Given the description of an element on the screen output the (x, y) to click on. 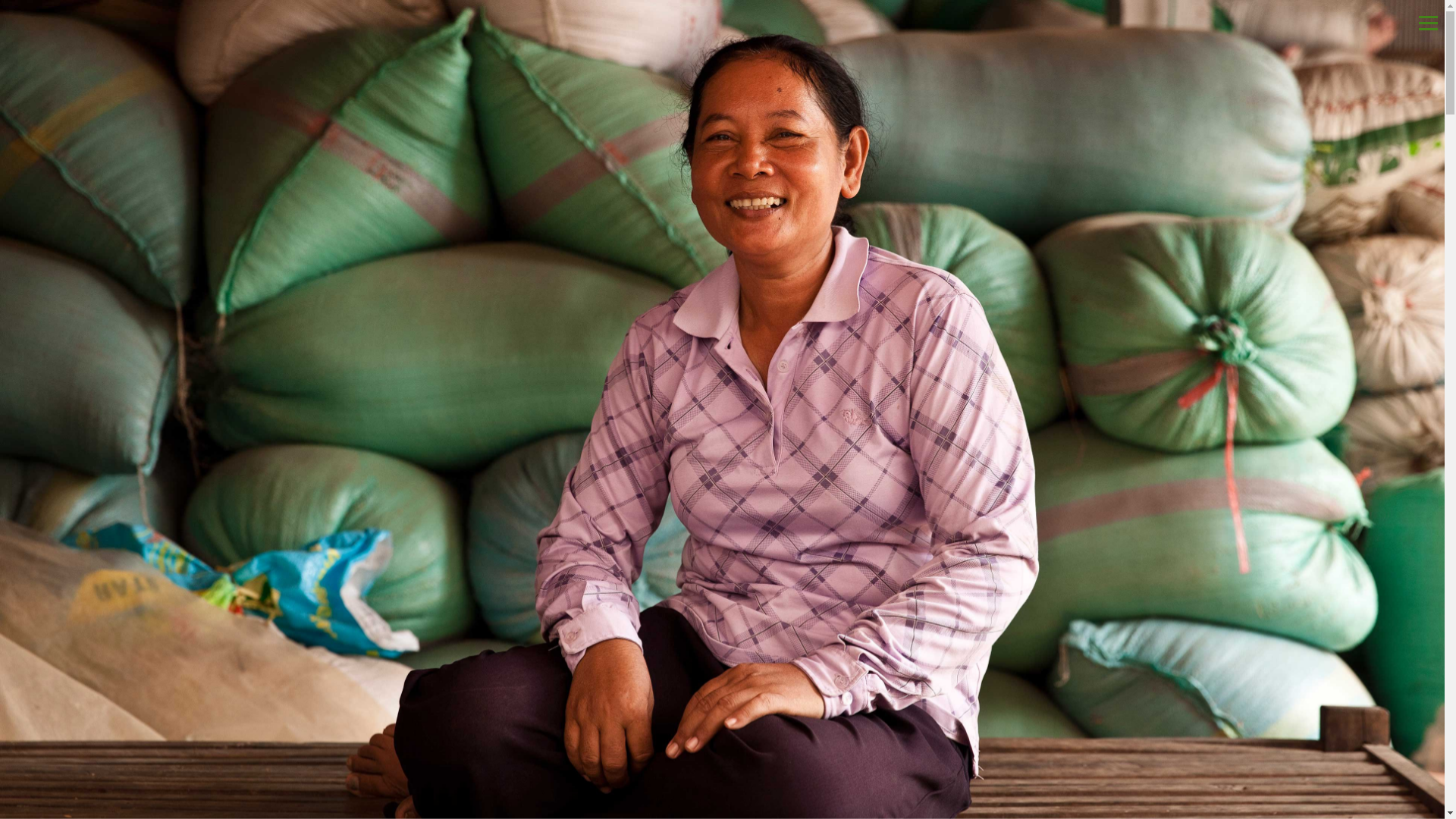
Home (662, 22)
